Given the description of an element on the screen output the (x, y) to click on. 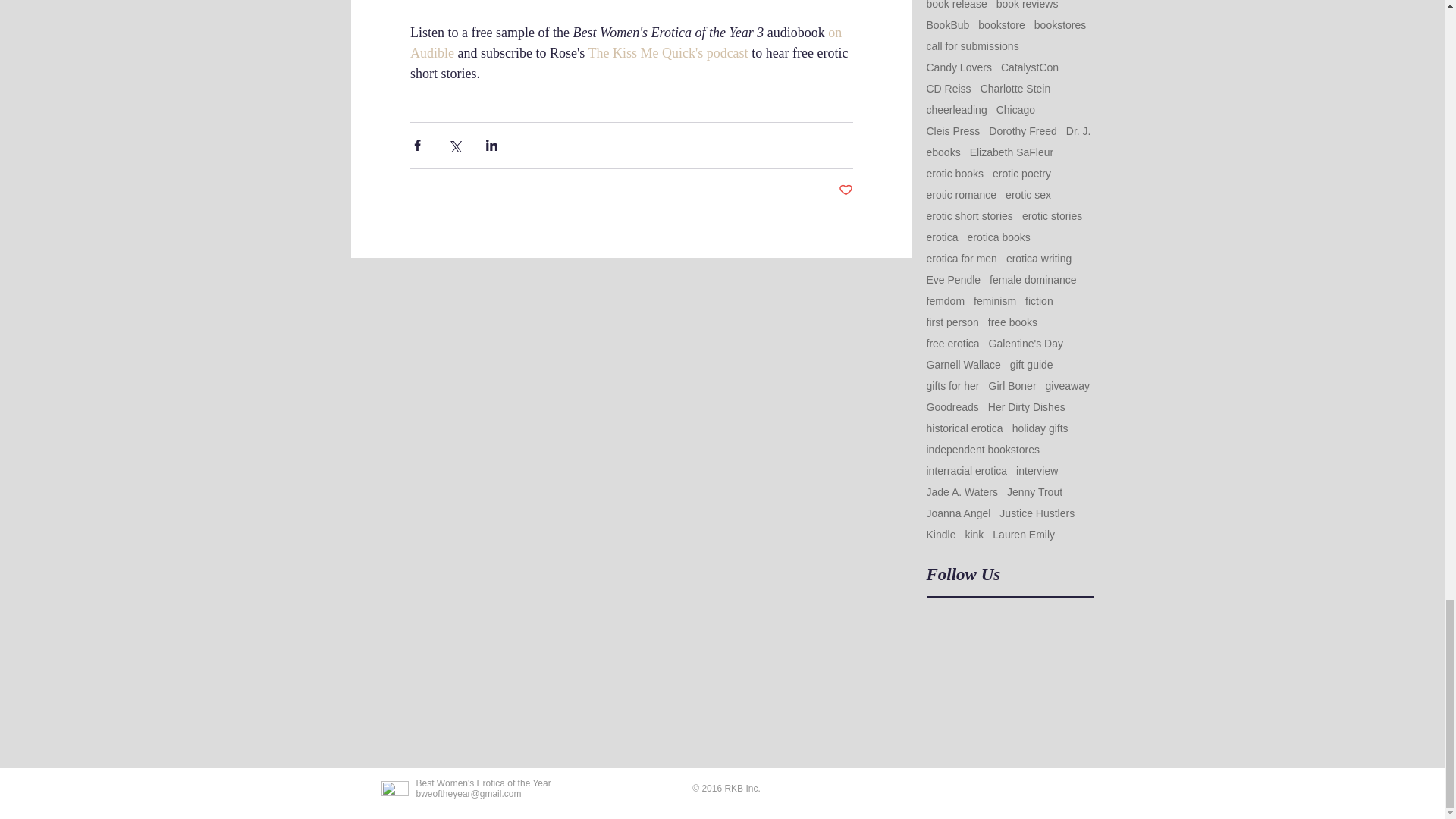
on Audible (626, 42)
The Kiss Me Quick's podcast (668, 52)
Post not marked as liked (845, 190)
